Given the description of an element on the screen output the (x, y) to click on. 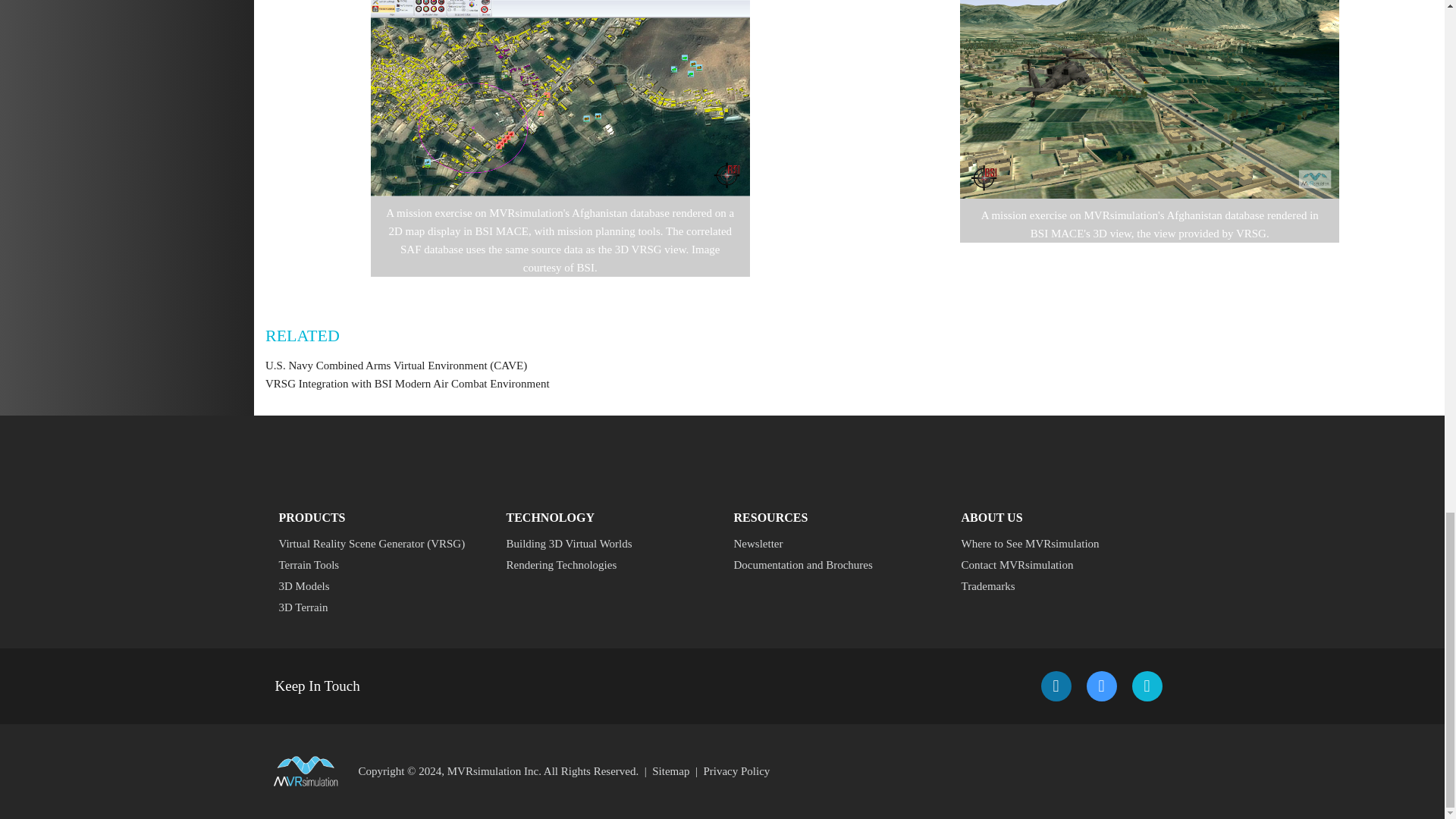
MVRsimulation (736, 770)
Rendering Technologies (568, 564)
Product Documentation and Brochures (802, 564)
Where to see us at trade shows (1029, 543)
MVRsimulation trademarks (1029, 586)
Contact MVRsimulation (1029, 564)
